Given the description of an element on the screen output the (x, y) to click on. 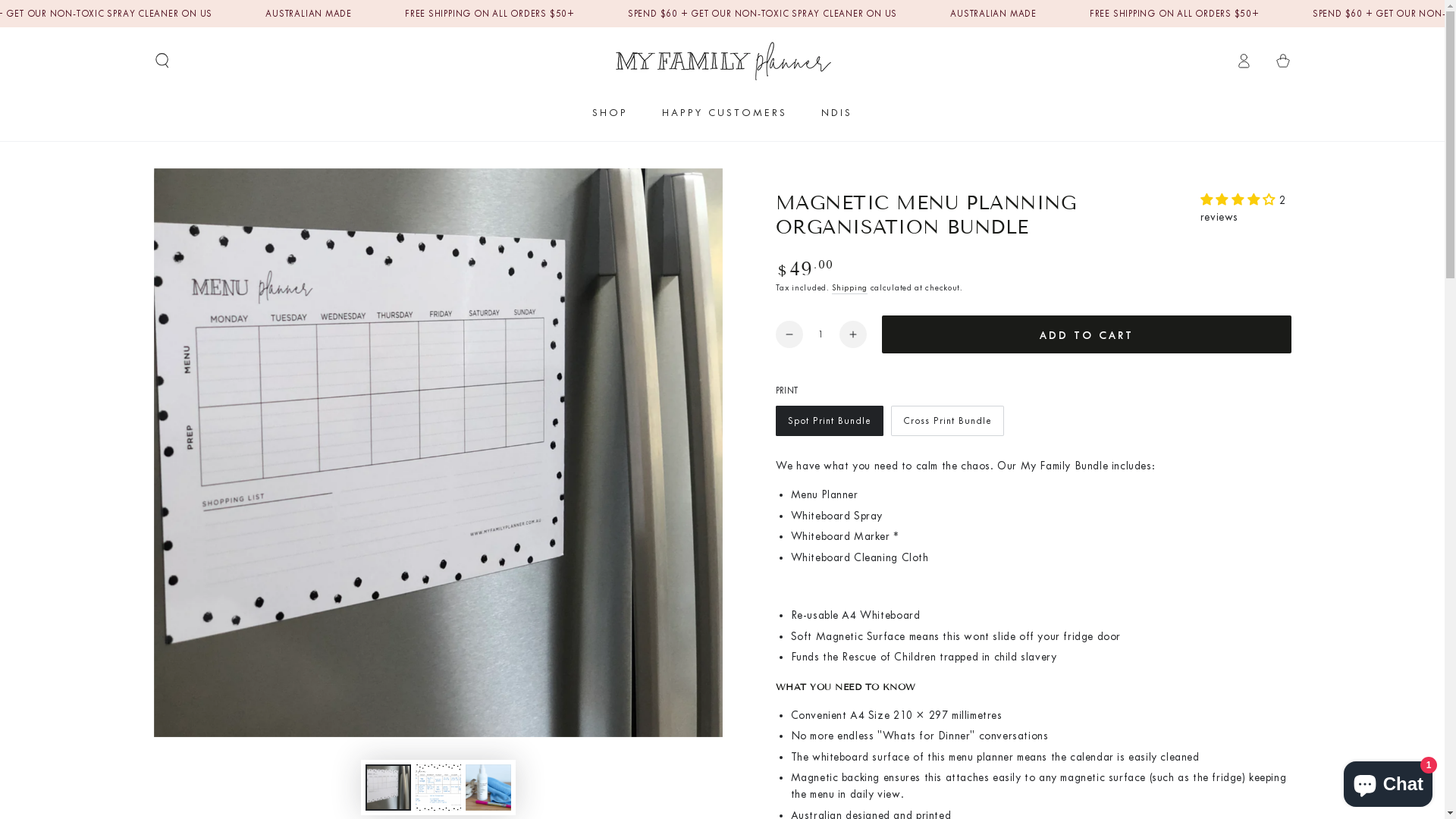
HAPPY CUSTOMERS Element type: text (724, 111)
Shopify online store chat Element type: hover (1388, 780)
SKIP TO PRODUCT INFORMATION Element type: text (244, 185)
SHOP Element type: text (609, 111)
ADD TO CART Element type: text (1085, 334)
NDIS Element type: text (836, 111)
Log in Element type: text (1243, 60)
Shipping Element type: text (849, 288)
